Given the description of an element on the screen output the (x, y) to click on. 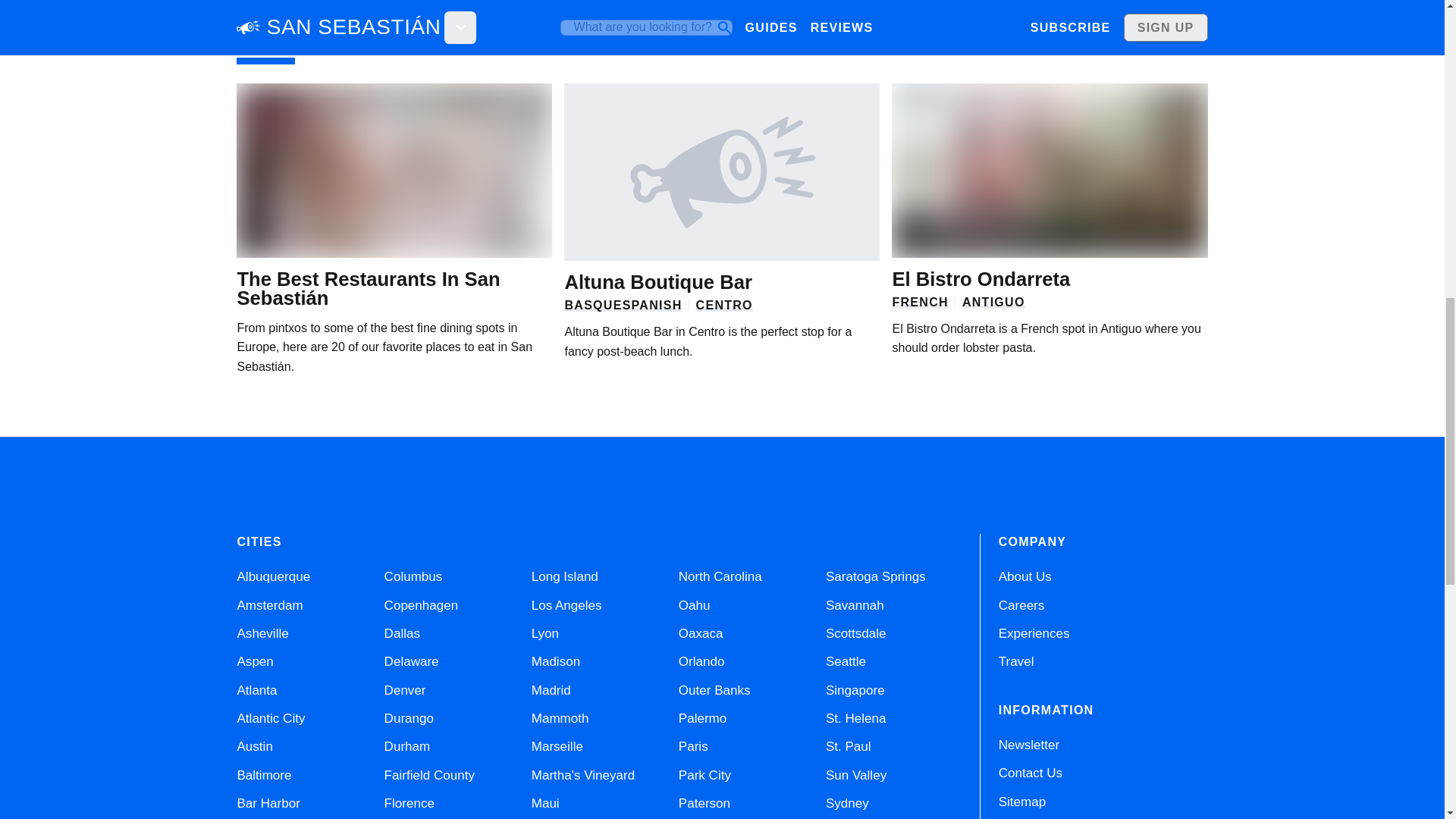
CENTRO (723, 304)
SPANISH (652, 304)
El Bistro Ondarreta (980, 278)
Albuquerque (272, 576)
Asheville (261, 633)
ANTIGUO (993, 302)
Aspen (254, 661)
BASQUE (592, 304)
Atlanta (255, 690)
Amsterdam (268, 605)
FRENCH (919, 302)
Altuna Boutique Bar (657, 281)
Atlantic City (269, 718)
